Given the description of an element on the screen output the (x, y) to click on. 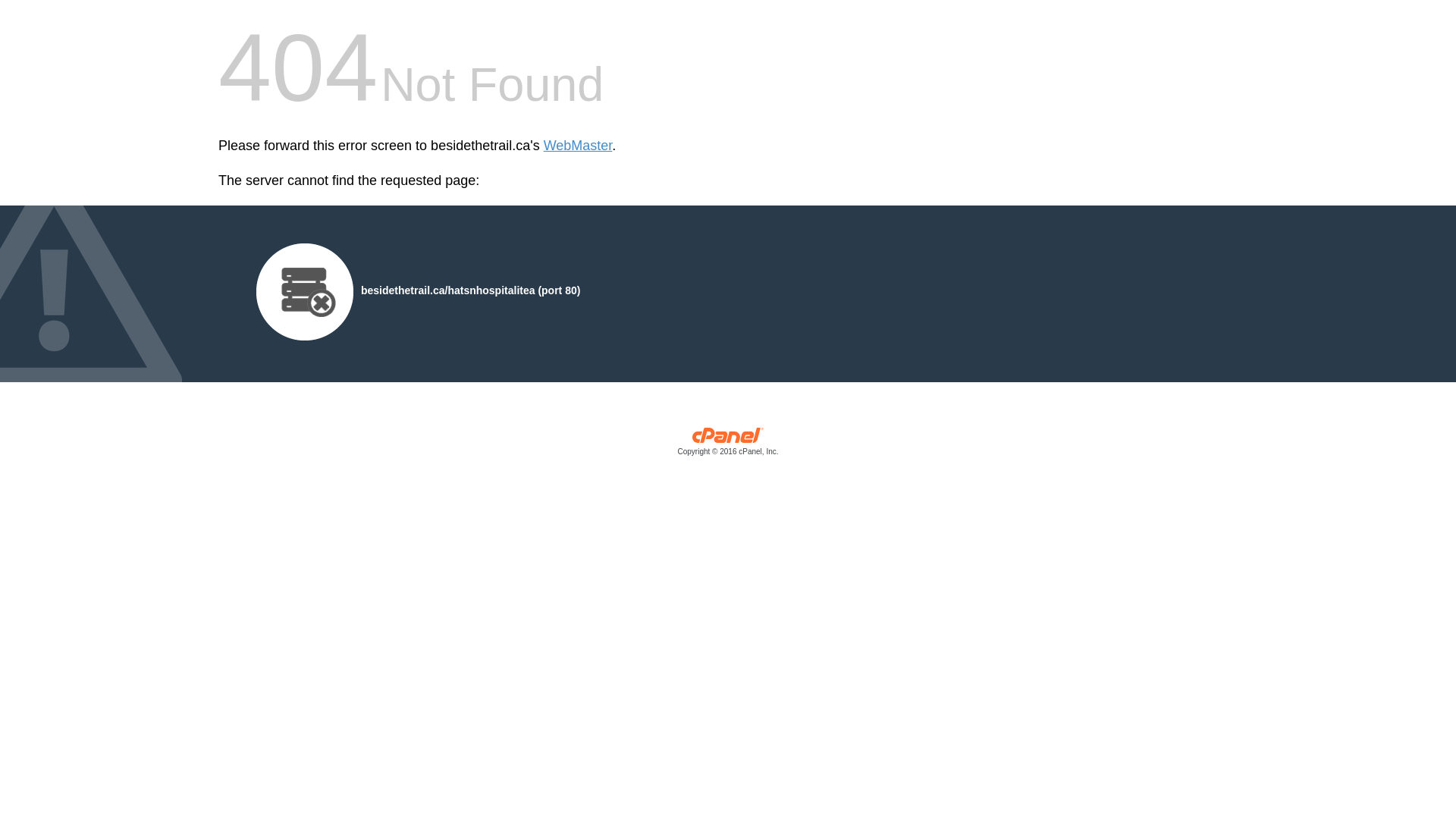
WebMaster Element type: text (577, 145)
